Given the description of an element on the screen output the (x, y) to click on. 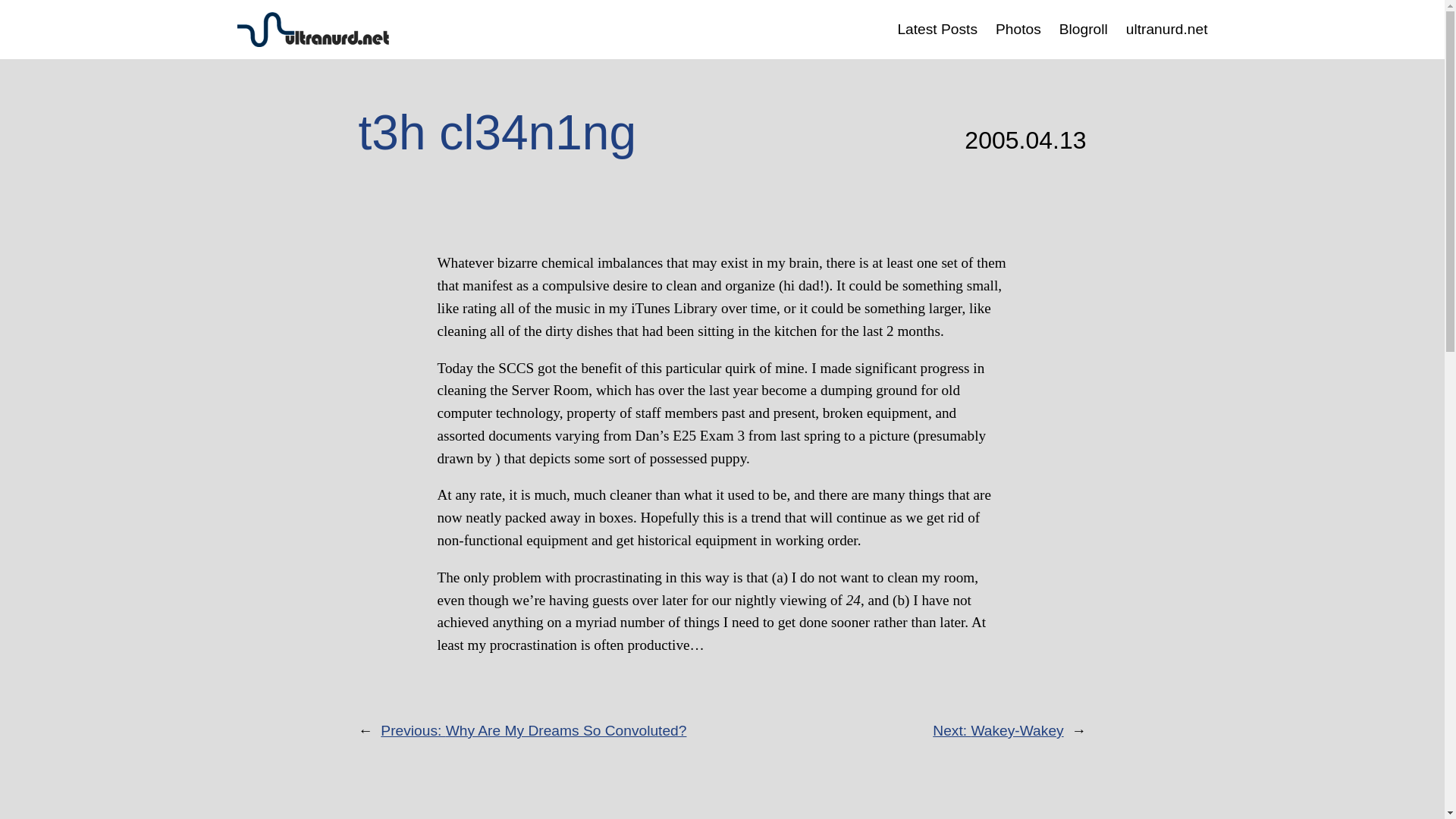
Photos (1018, 29)
Previous: Why Are My Dreams So Convoluted? (532, 730)
Next: Wakey-Wakey (997, 730)
Latest Posts (936, 29)
t3h cl34n1ng (497, 132)
Personal Website (1166, 29)
Blogroll (1083, 29)
Shared Photographs (1018, 29)
Blog Home (936, 29)
ultranurd.net (1166, 29)
